Given the description of an element on the screen output the (x, y) to click on. 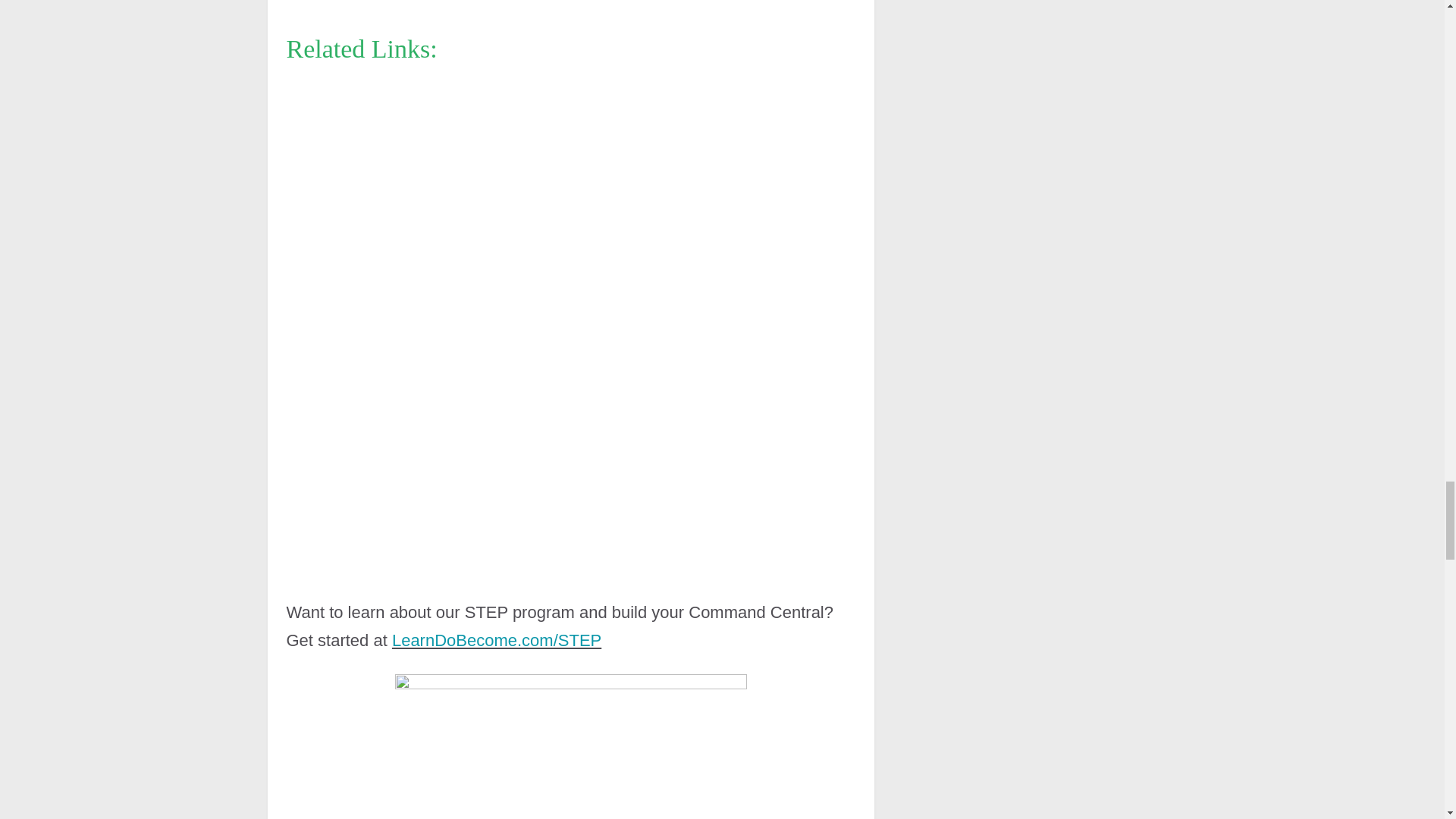
YouTube video player (498, 454)
YouTube video player (498, 192)
